Given the description of an element on the screen output the (x, y) to click on. 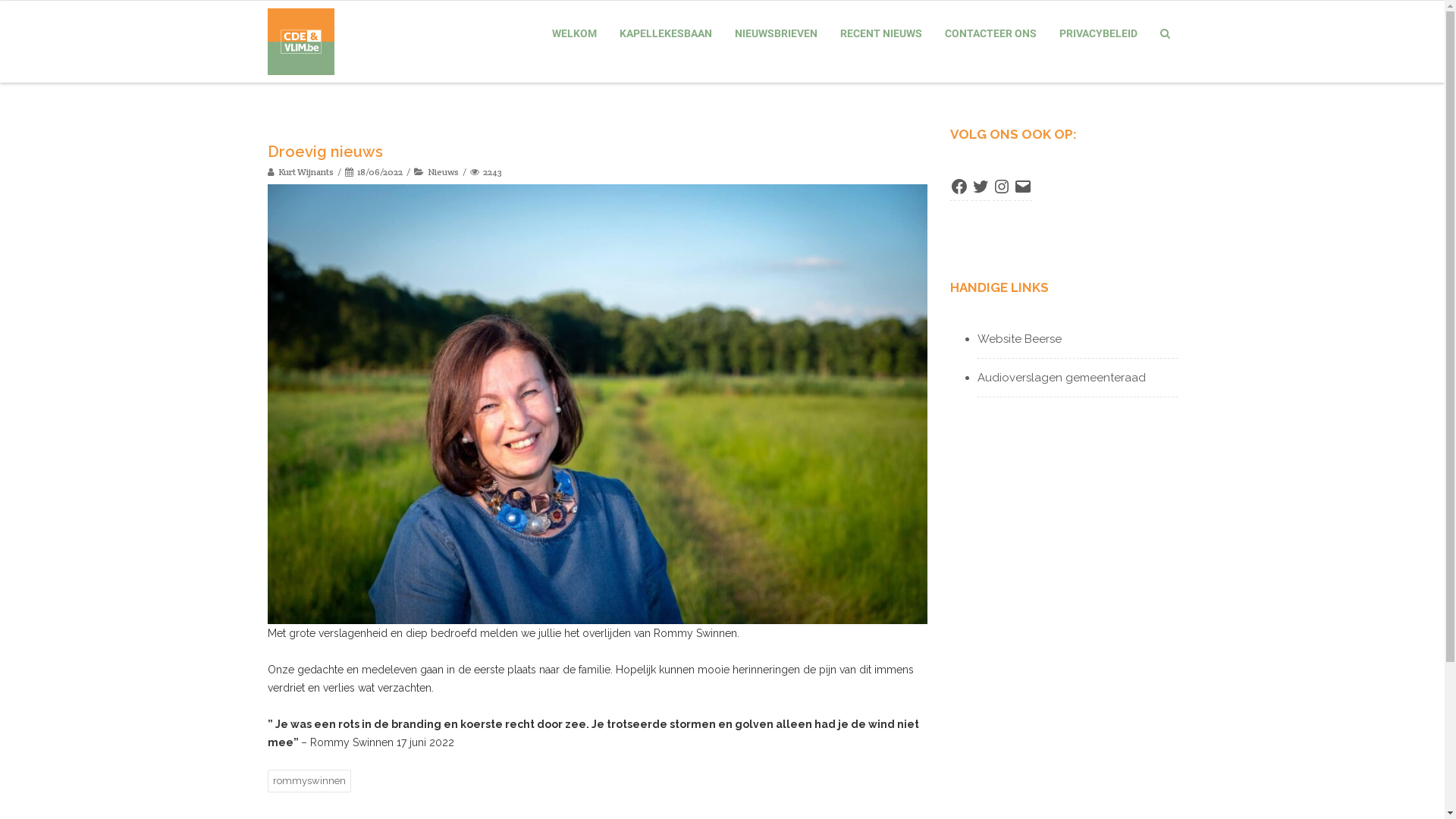
CDE-Vlim.be Element type: hover (303, 41)
Twitter Element type: text (979, 183)
Kurt Wijnants Element type: text (299, 171)
Instagram Element type: text (1000, 183)
PRIVACYBELEID Element type: text (1097, 33)
WELKOM Element type: text (574, 33)
E-mail Element type: text (1022, 183)
Nieuws Element type: text (442, 171)
rommyswinnen Element type: text (308, 780)
NIEUWSBRIEVEN Element type: text (775, 33)
KAPELLEKESBAAN Element type: text (664, 33)
Facebook Element type: text (958, 183)
Audioverslagen gemeenteraad Element type: text (1060, 377)
Website Beerse Element type: text (1018, 338)
CONTACTEER ONS Element type: text (990, 33)
RECENT NIEUWS Element type: text (881, 33)
